Given the description of an element on the screen output the (x, y) to click on. 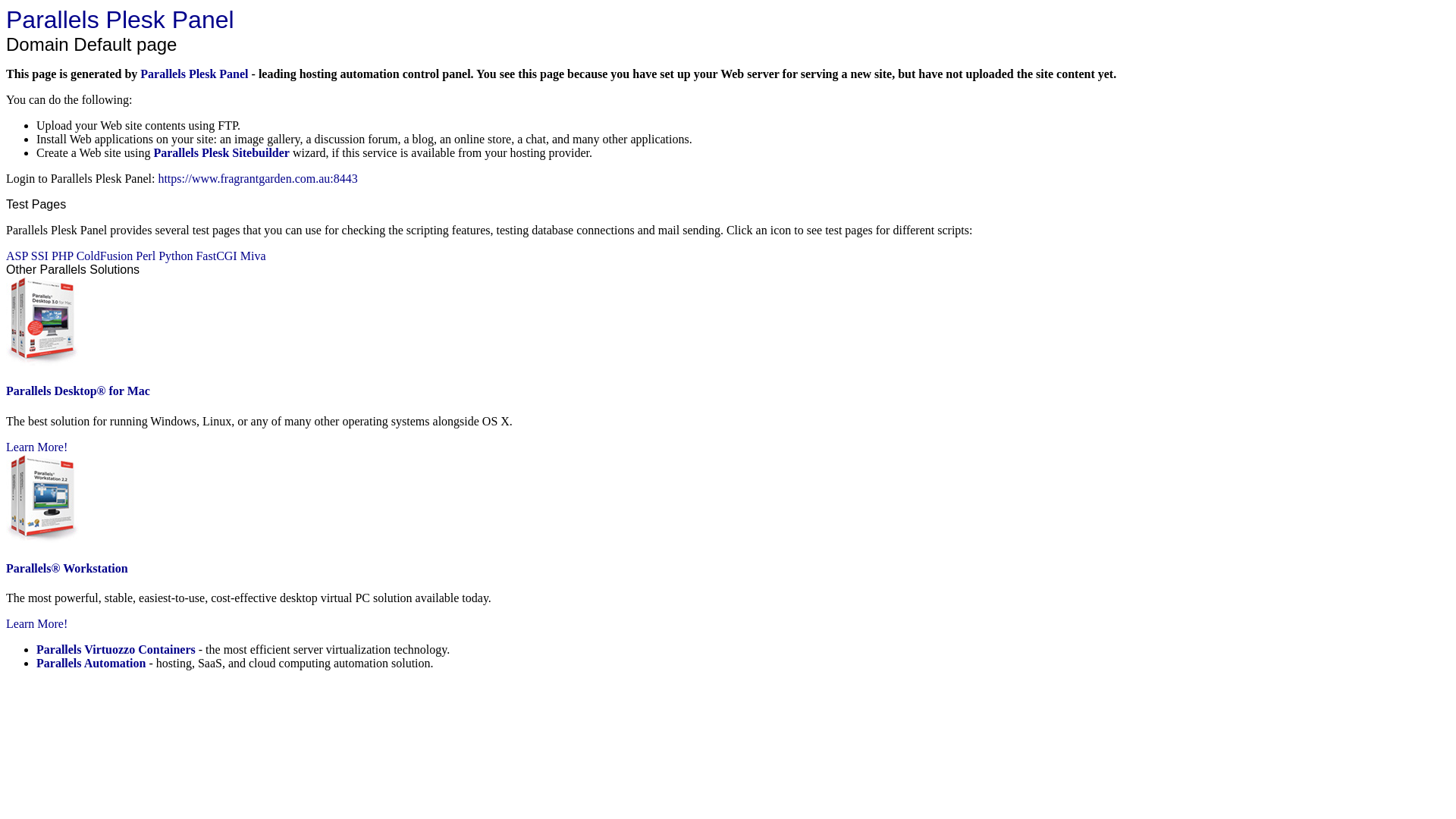
Parallels Plesk Panel Element type: text (120, 19)
SSI Element type: text (39, 255)
PHP Element type: text (62, 255)
Parallels Plesk Sitebuilder Element type: text (221, 152)
Parallels Plesk Panel Element type: text (193, 73)
ColdFusion Element type: text (104, 255)
Perl Element type: text (145, 255)
Learn More! Element type: text (36, 623)
Python Element type: text (175, 255)
FastCGI Element type: text (215, 255)
Learn More! Element type: text (36, 446)
Parallels Automation Element type: text (90, 662)
https://www.fragrantgarden.com.au:8443 Element type: text (257, 178)
Miva Element type: text (253, 255)
ASP Element type: text (17, 255)
Parallels Virtuozzo Containers Element type: text (115, 649)
